Given the description of an element on the screen output the (x, y) to click on. 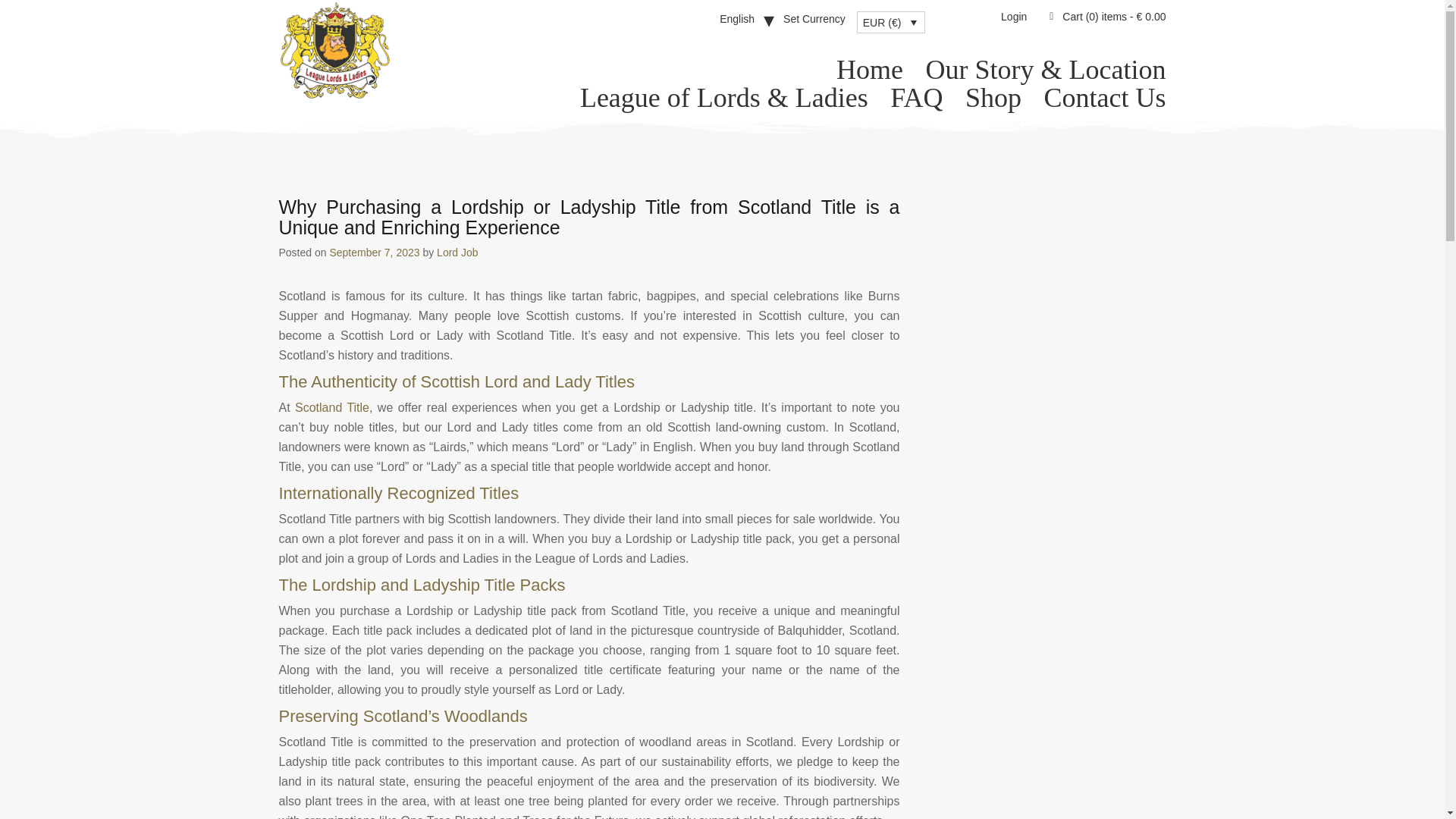
September 7, 2023 (374, 252)
Home (868, 69)
View your shopping cart (1114, 16)
Contact Us (1104, 97)
Login (1013, 16)
Lord Job (456, 252)
FAQ (915, 97)
Shop (993, 97)
Scotland Title (332, 407)
